Given the description of an element on the screen output the (x, y) to click on. 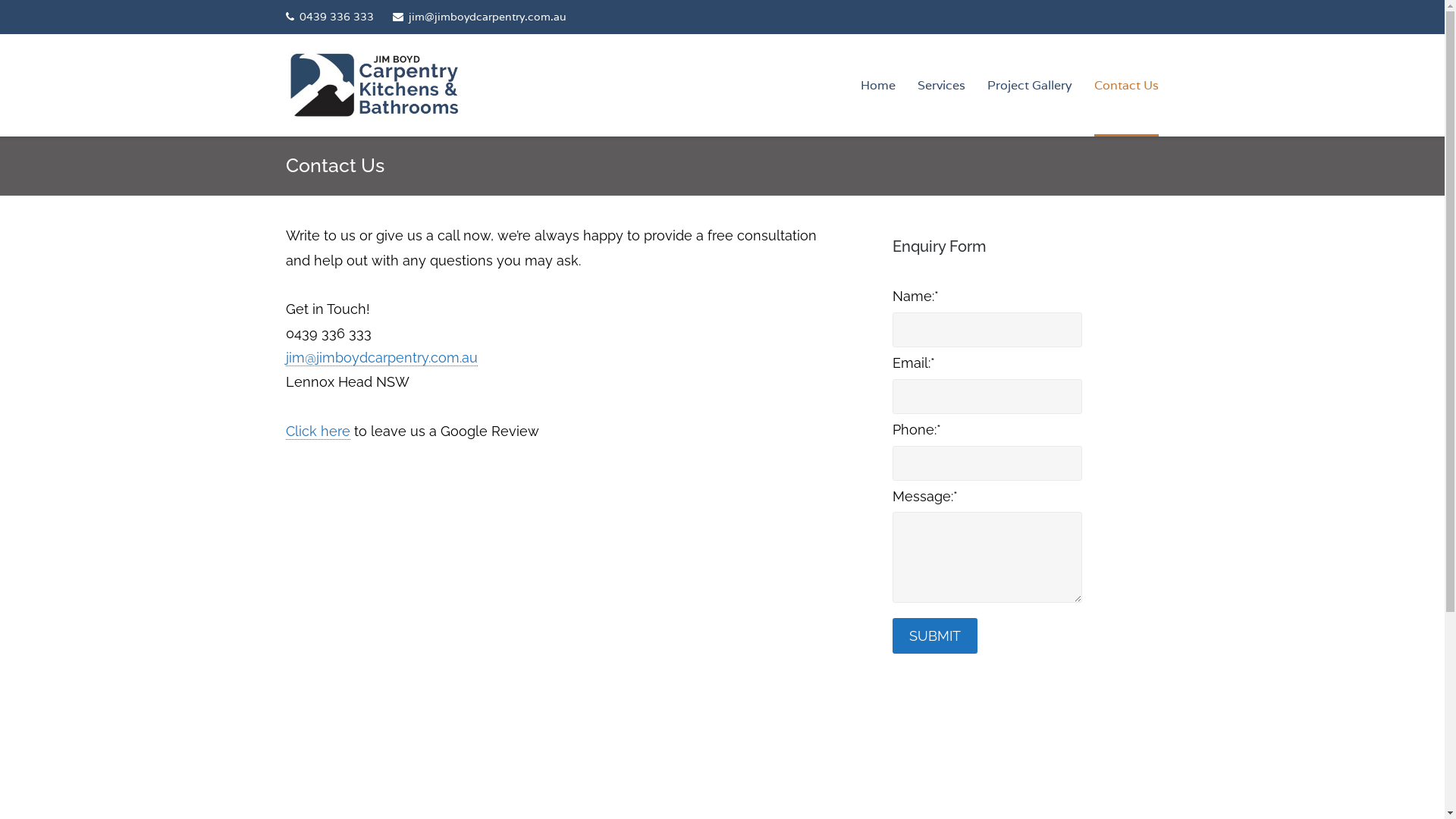
jim@jimboydcarpentry.com.au Element type: text (479, 17)
Submit Element type: text (934, 635)
Contact Us Element type: text (1126, 85)
Home Element type: text (877, 85)
Services Element type: text (941, 85)
0439 336 333 Element type: text (329, 17)
Click here Element type: text (317, 431)
Skip to content Element type: text (0, 0)
Project Gallery Element type: text (1029, 85)
jim@jimboydcarpentry.com.au Element type: text (381, 357)
